Given the description of an element on the screen output the (x, y) to click on. 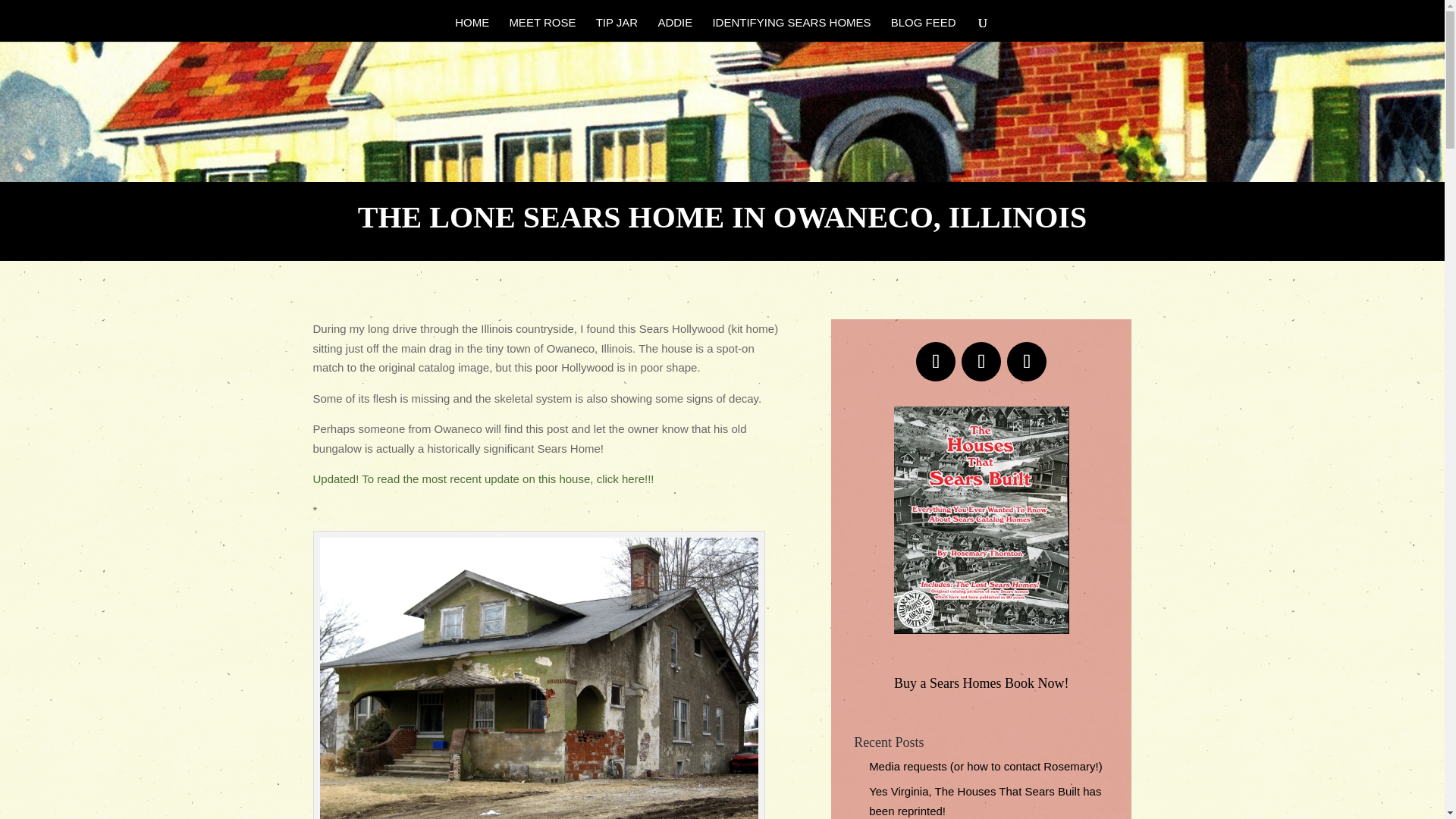
Updated!!! (483, 478)
TIP JAR (617, 29)
Buy a Sears Homes Book Now! (980, 683)
Follow on Facebook (935, 361)
IDENTIFYING SEARS HOMES (790, 29)
HOME (471, 29)
ADDIE (675, 29)
MEET ROSE (541, 29)
Follow on X (980, 361)
Follow on RSS (1026, 361)
BLOG FEED (923, 29)
